Given the description of an element on the screen output the (x, y) to click on. 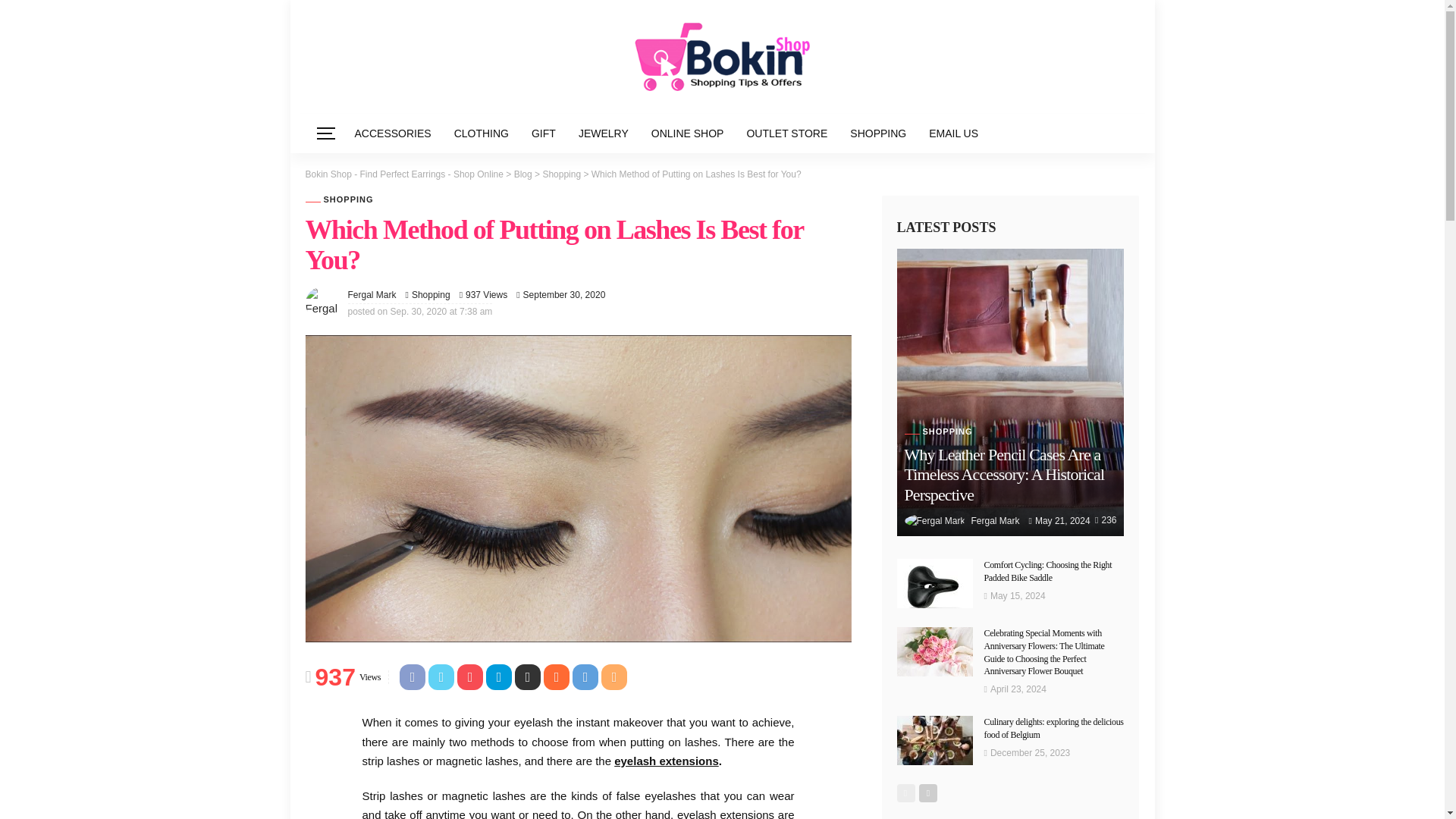
Shopping (430, 294)
Shopping (430, 294)
SHOPPING (877, 133)
Shopping (560, 173)
EMAIL US (953, 133)
Go to Bokin Shop - Find Perfect Earrings - Shop Online. (403, 173)
Bokin Shop - Find Perfect Earrings - Shop Online (403, 173)
ACCESSORIES (392, 133)
JEWELRY (603, 133)
ONLINE SHOP (687, 133)
Go to the Shopping Category archives. (560, 173)
SHOPPING (338, 199)
Bokin Shop - Find Perfect Earrings - Shop Online (721, 56)
Go to Blog. (522, 173)
CLOTHING (480, 133)
